Given the description of an element on the screen output the (x, y) to click on. 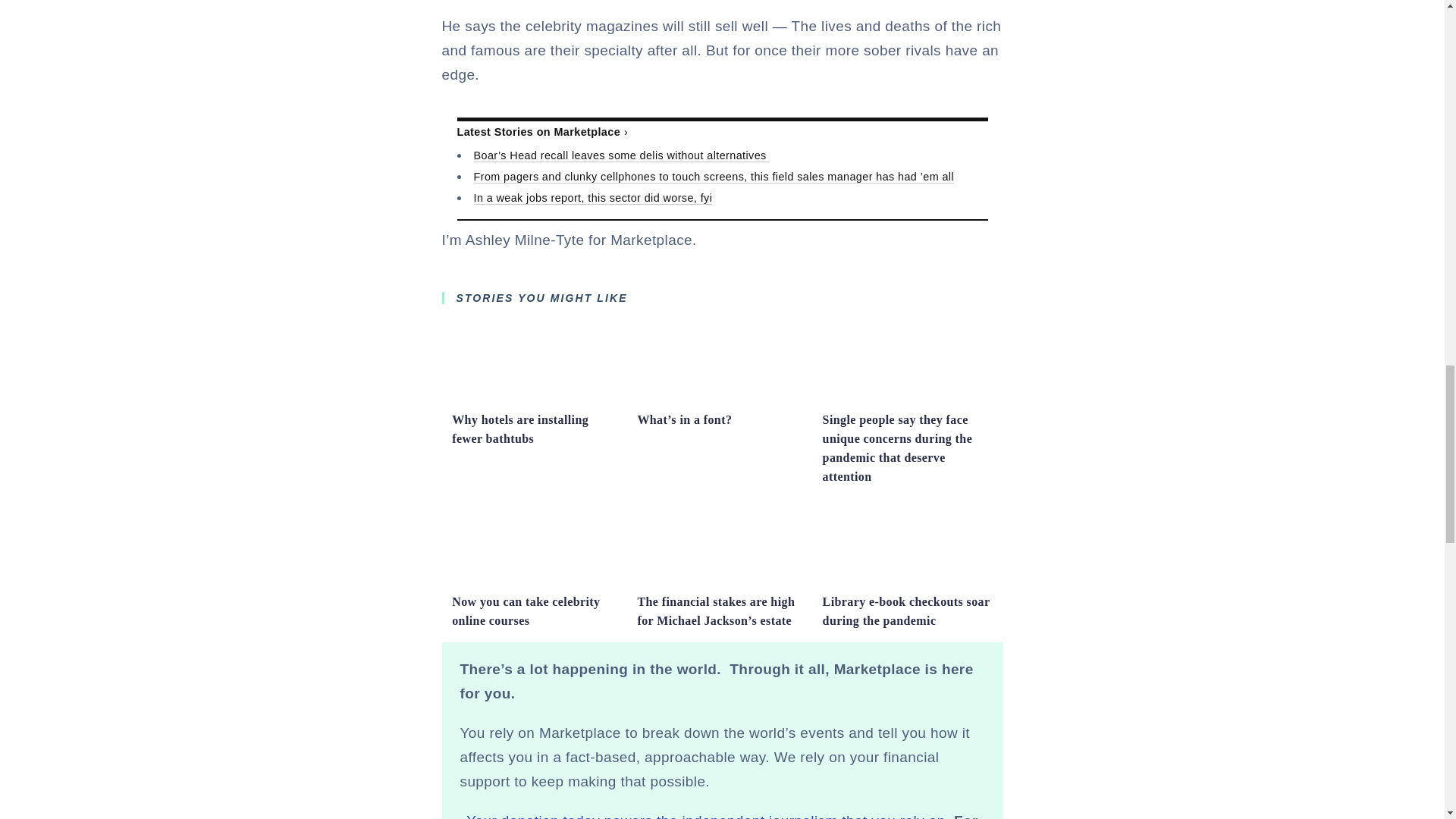
Why hotels are installing fewer bathtubs (536, 397)
Why hotels are installing fewer bathtubs (519, 429)
